Given the description of an element on the screen output the (x, y) to click on. 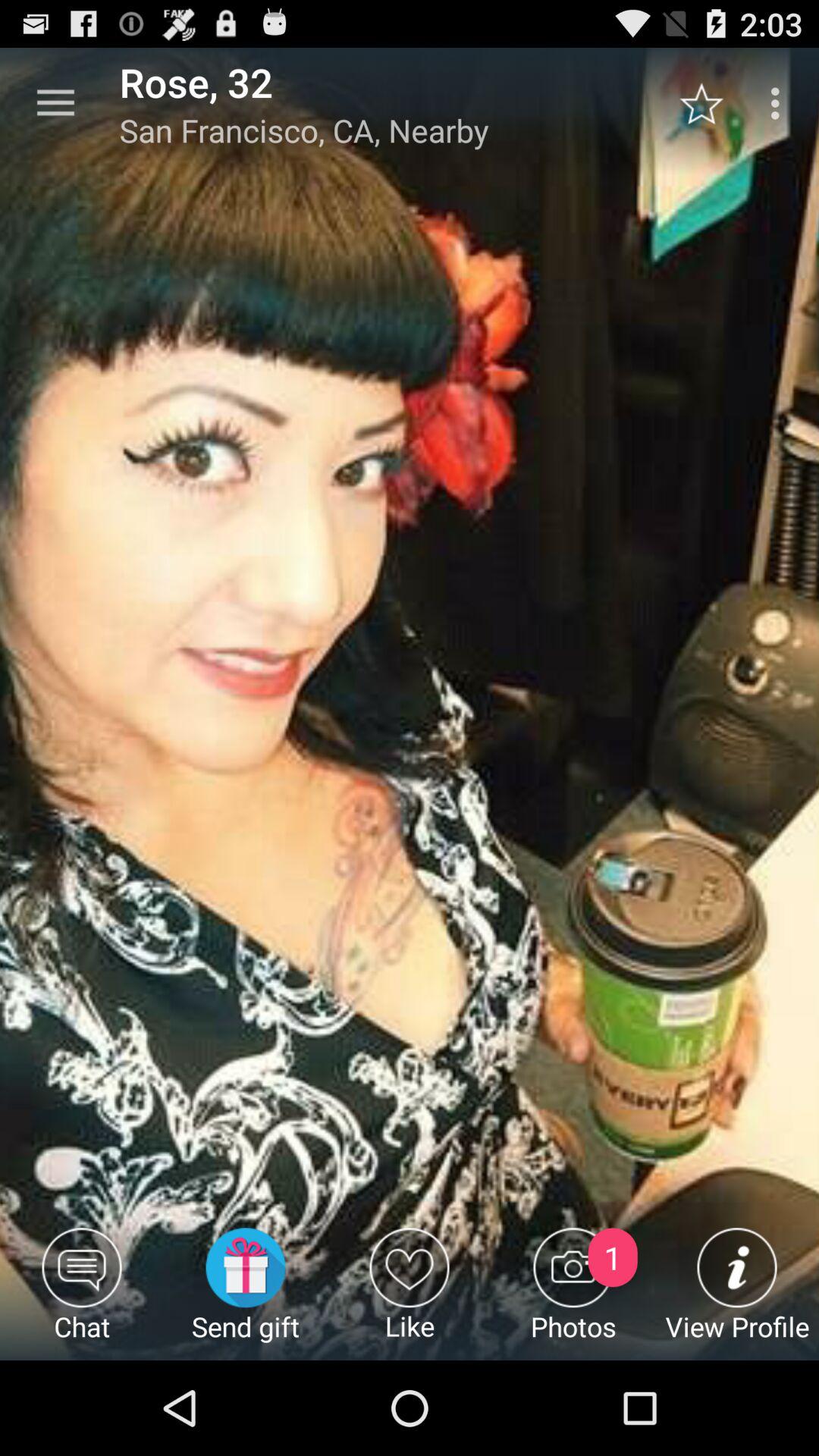
turn on view profile item (737, 1293)
